Given the description of an element on the screen output the (x, y) to click on. 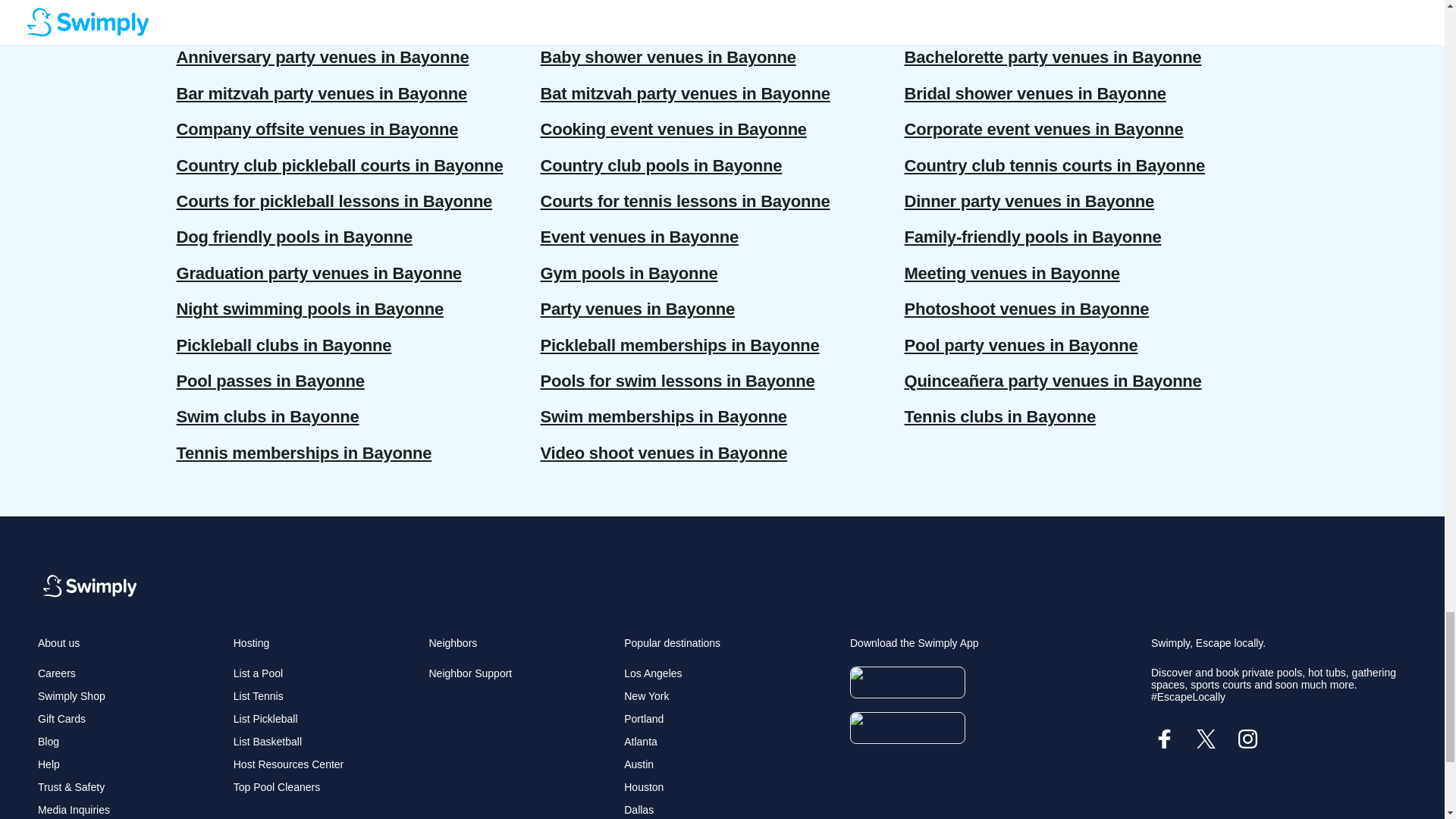
Portland (643, 718)
Swimply Shop (70, 695)
Gift Cards (61, 718)
Help (48, 764)
Neighbor Support (470, 673)
New York (646, 695)
Media Inquiries (73, 809)
List Basketball (266, 741)
Blog (48, 741)
Top Pool Cleaners (276, 787)
List Pickleball (265, 718)
List a Pool (257, 673)
List Tennis (257, 695)
Host Resources Center (287, 764)
Careers (56, 673)
